Given the description of an element on the screen output the (x, y) to click on. 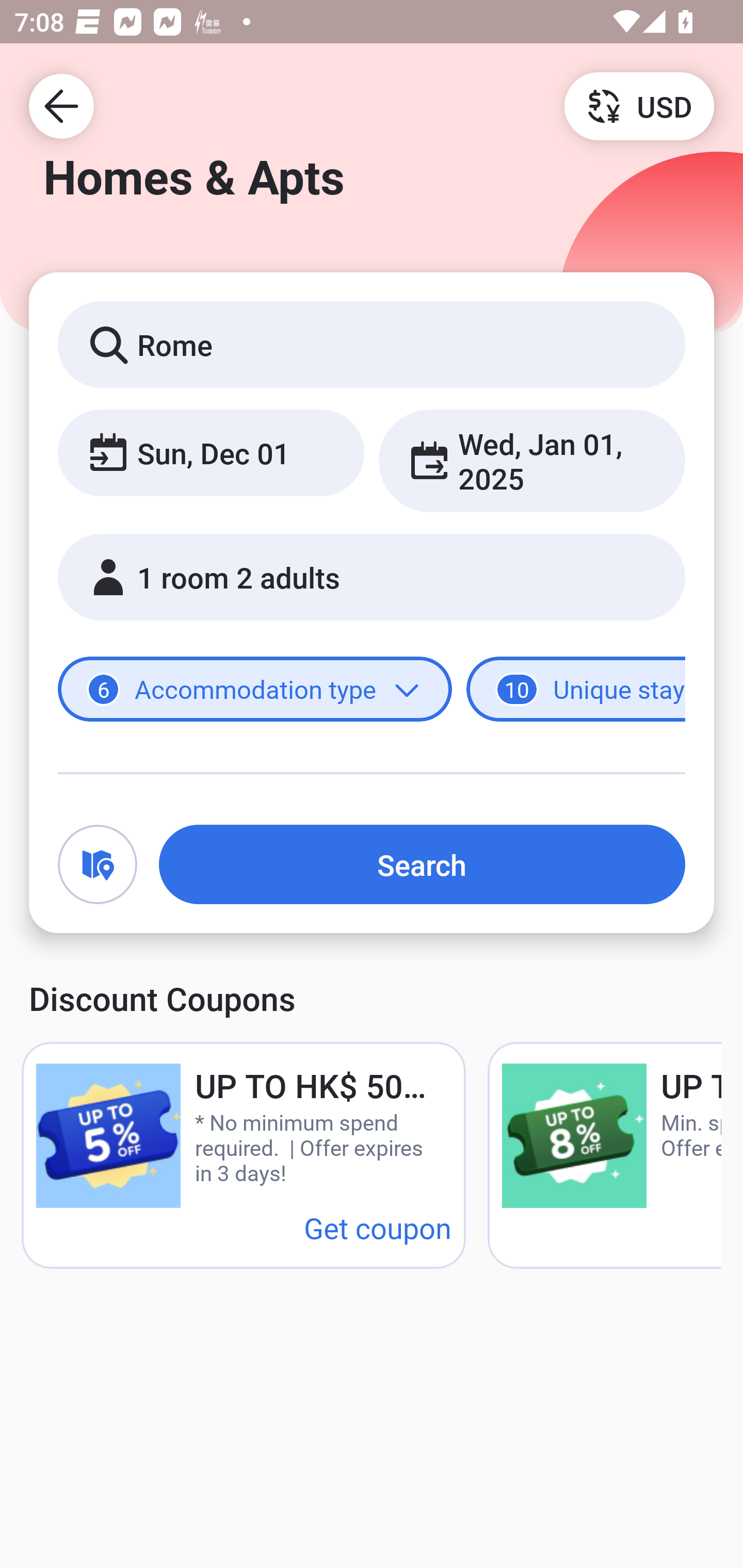
USD (639, 105)
Rome (371, 344)
Sun, Dec 01 (210, 452)
Wed, Jan 01, 2025 (531, 460)
1 room 2 adults (371, 576)
6 Accommodation type (254, 688)
10 Unique stays (575, 688)
Search (422, 864)
Get coupon (377, 1227)
